Given the description of an element on the screen output the (x, y) to click on. 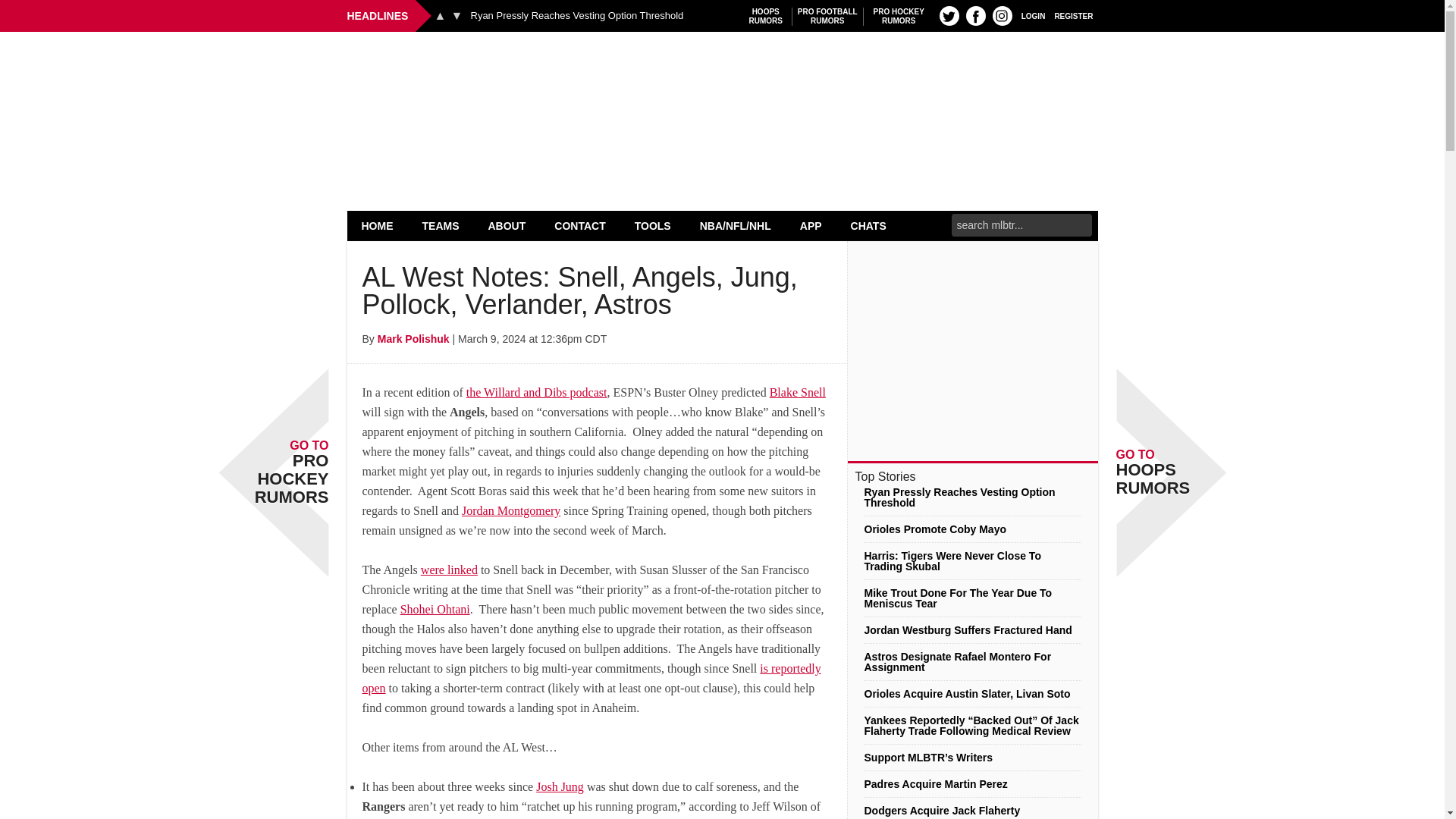
MLB Trade Rumors (722, 69)
Instagram profile (827, 16)
HOME (1001, 15)
Next (377, 225)
TEAMS (456, 15)
Twitter profile (440, 225)
REGISTER (949, 15)
Ryan Pressly Reaches Vesting Option Threshold (765, 16)
LOGIN (1073, 15)
Previous (576, 15)
Search (1032, 15)
FB profile (439, 15)
